Given the description of an element on the screen output the (x, y) to click on. 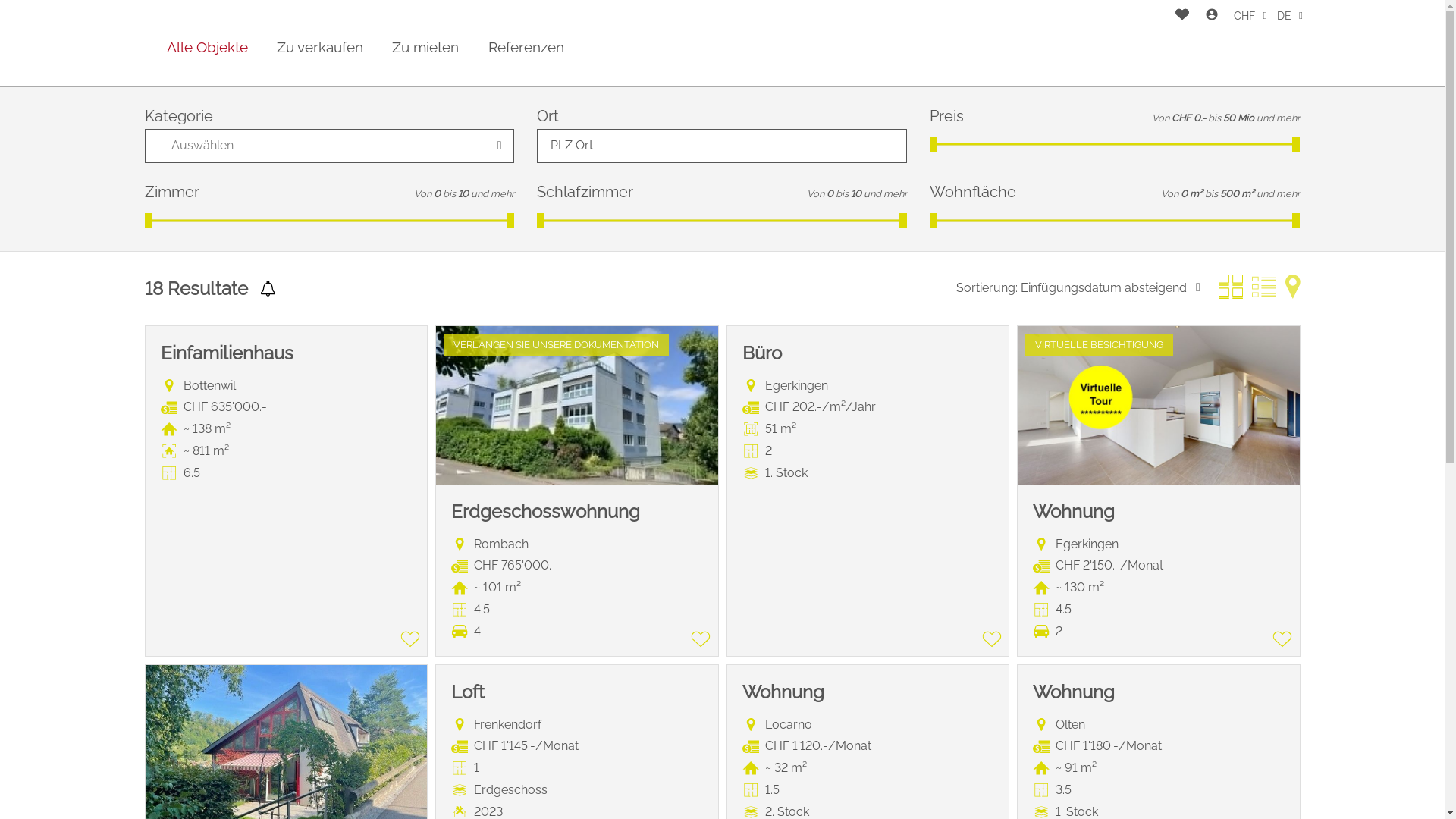
Referenzen Element type: text (526, 46)
Zu verkaufen Element type: text (319, 46)
Loft
Frenkendorf
CHF 1'145.-/Monat
1
Erdgeschoss
2023 Element type: text (577, 592)
Zu mieten Element type: text (425, 46)
Alle Objekte Element type: text (206, 46)
